Given the description of an element on the screen output the (x, y) to click on. 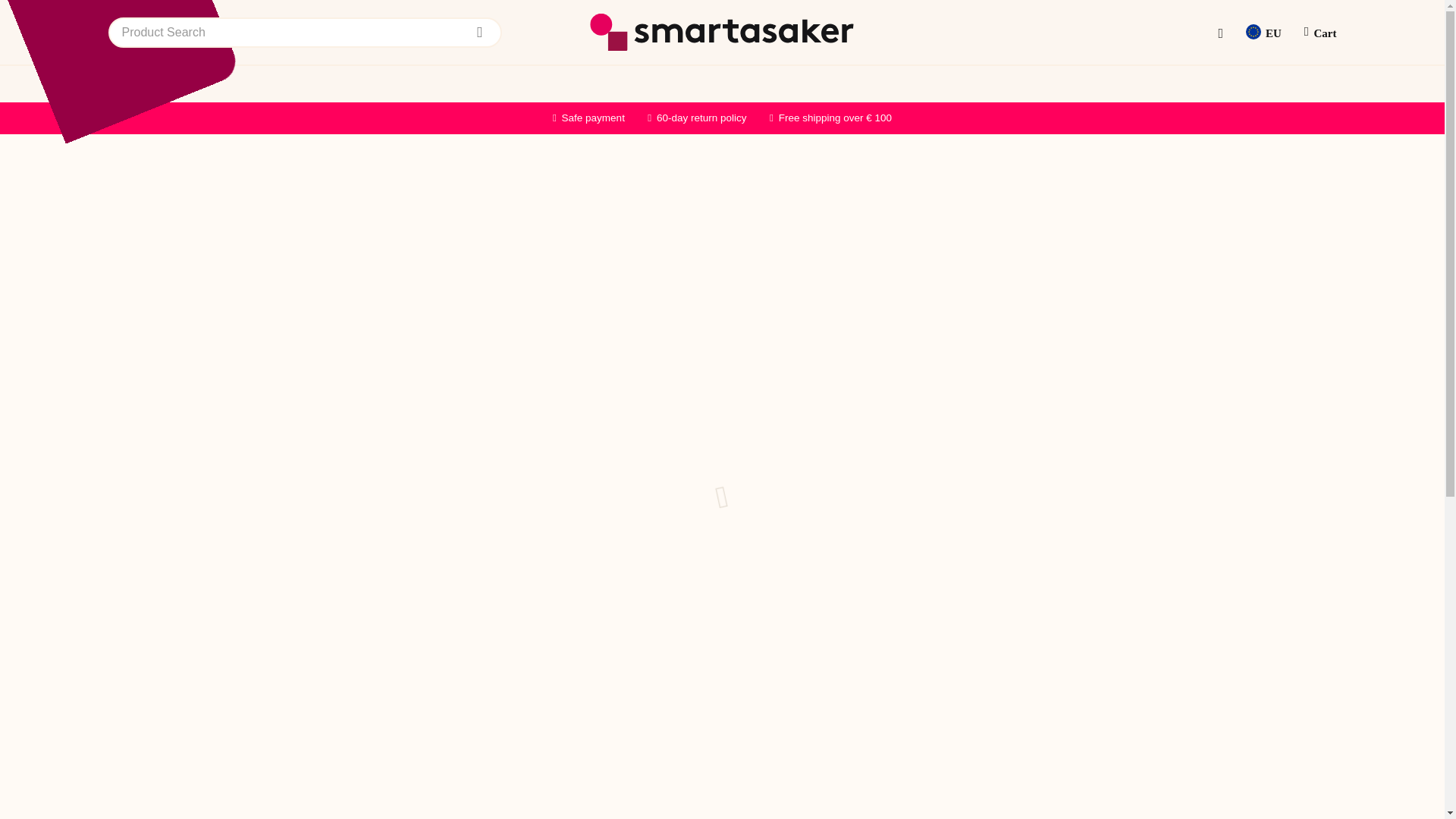
du (750, 472)
1 (840, 370)
1-21 (750, 490)
New (298, 110)
vviutv (750, 453)
Best-sellers (365, 110)
